Given the description of an element on the screen output the (x, y) to click on. 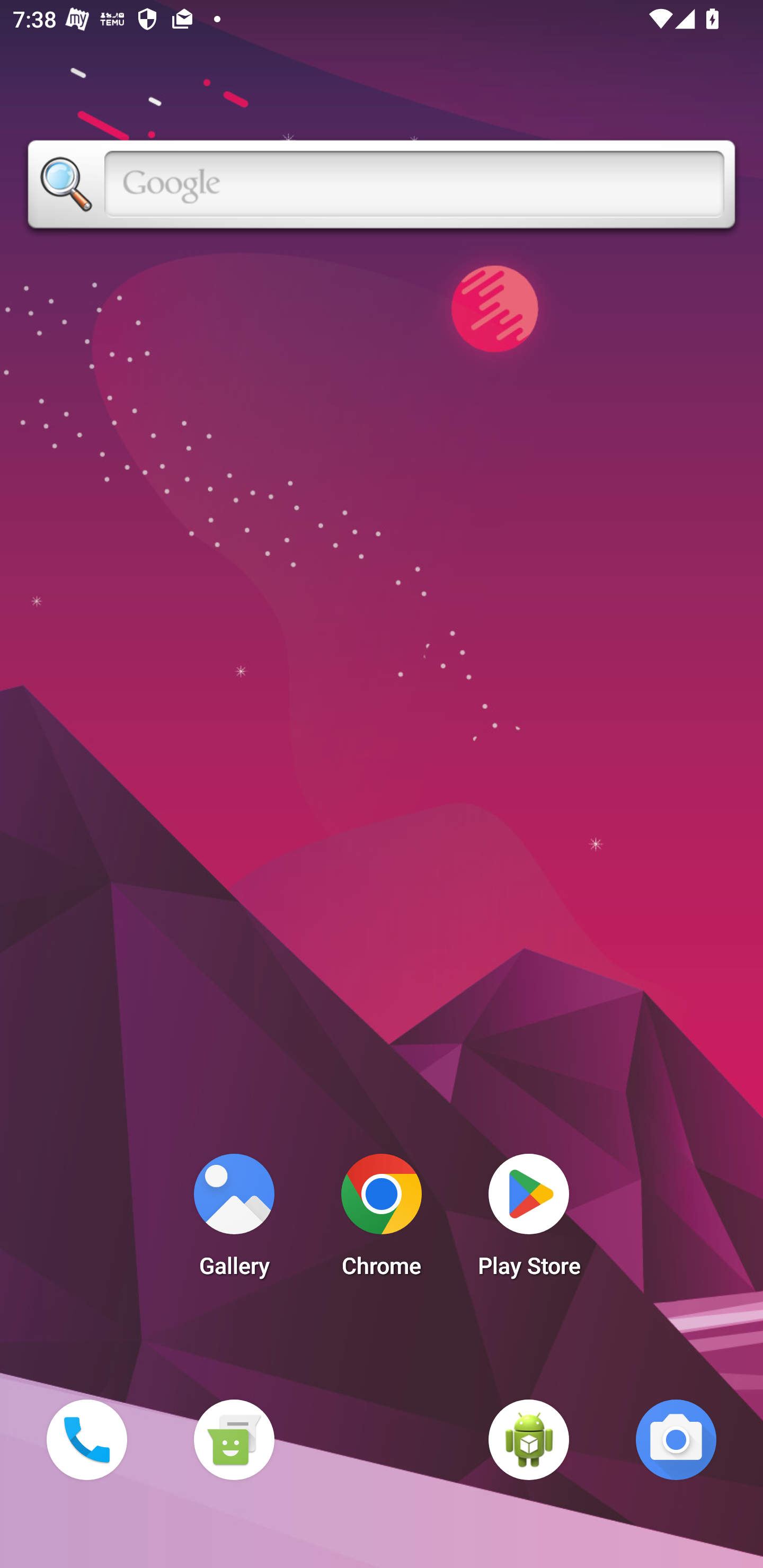
Gallery (233, 1220)
Chrome (381, 1220)
Play Store (528, 1220)
Phone (86, 1439)
Messaging (233, 1439)
WebView Browser Tester (528, 1439)
Camera (676, 1439)
